Given the description of an element on the screen output the (x, y) to click on. 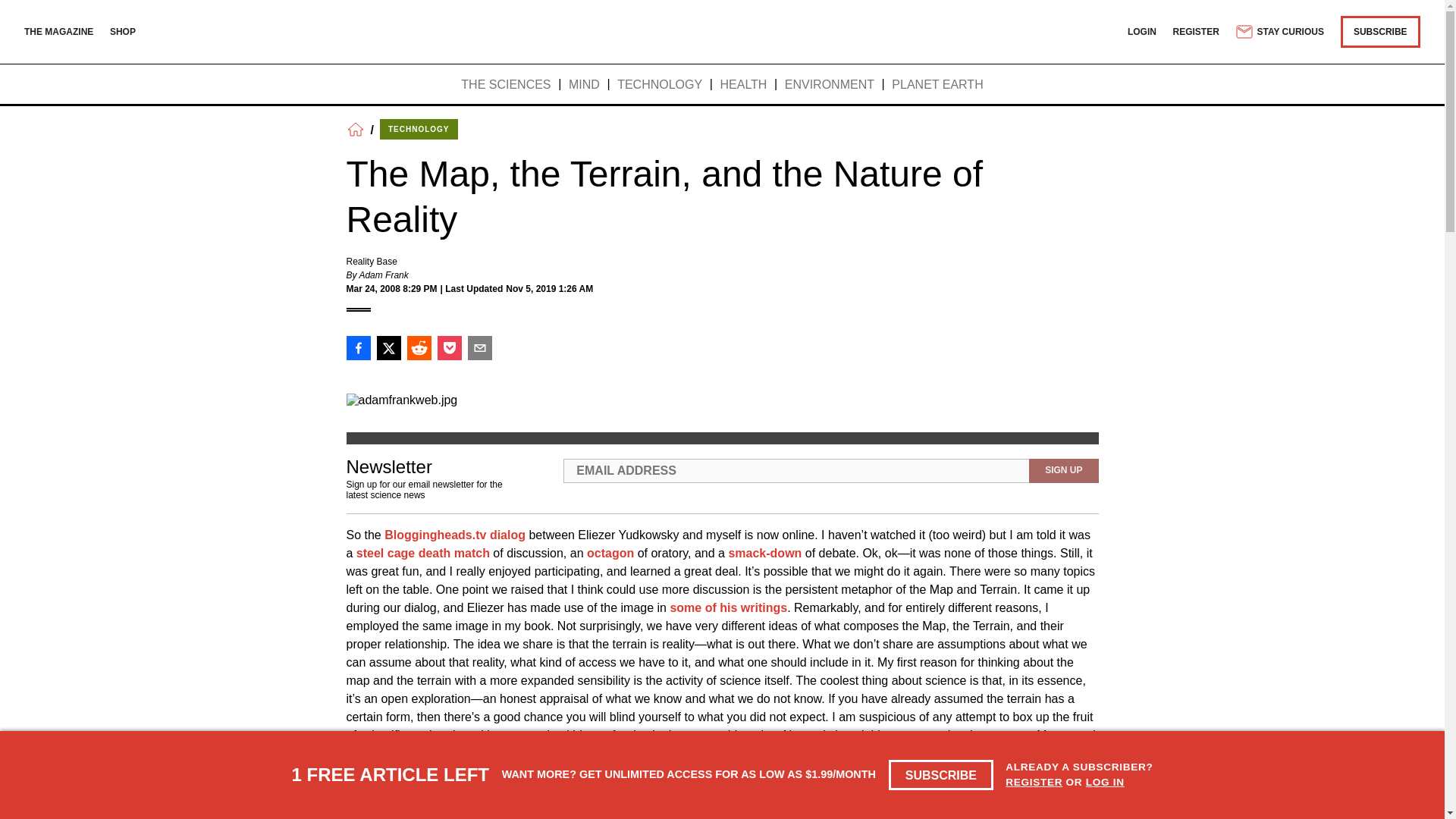
TECHNOLOGY (419, 128)
HEALTH (743, 84)
SHOP (122, 31)
SIGN UP (1063, 470)
REGISTER (1196, 31)
octagon (609, 553)
smack-down (765, 553)
MIND (584, 84)
ENVIRONMENT (829, 84)
steel cage death match (422, 553)
